Given the description of an element on the screen output the (x, y) to click on. 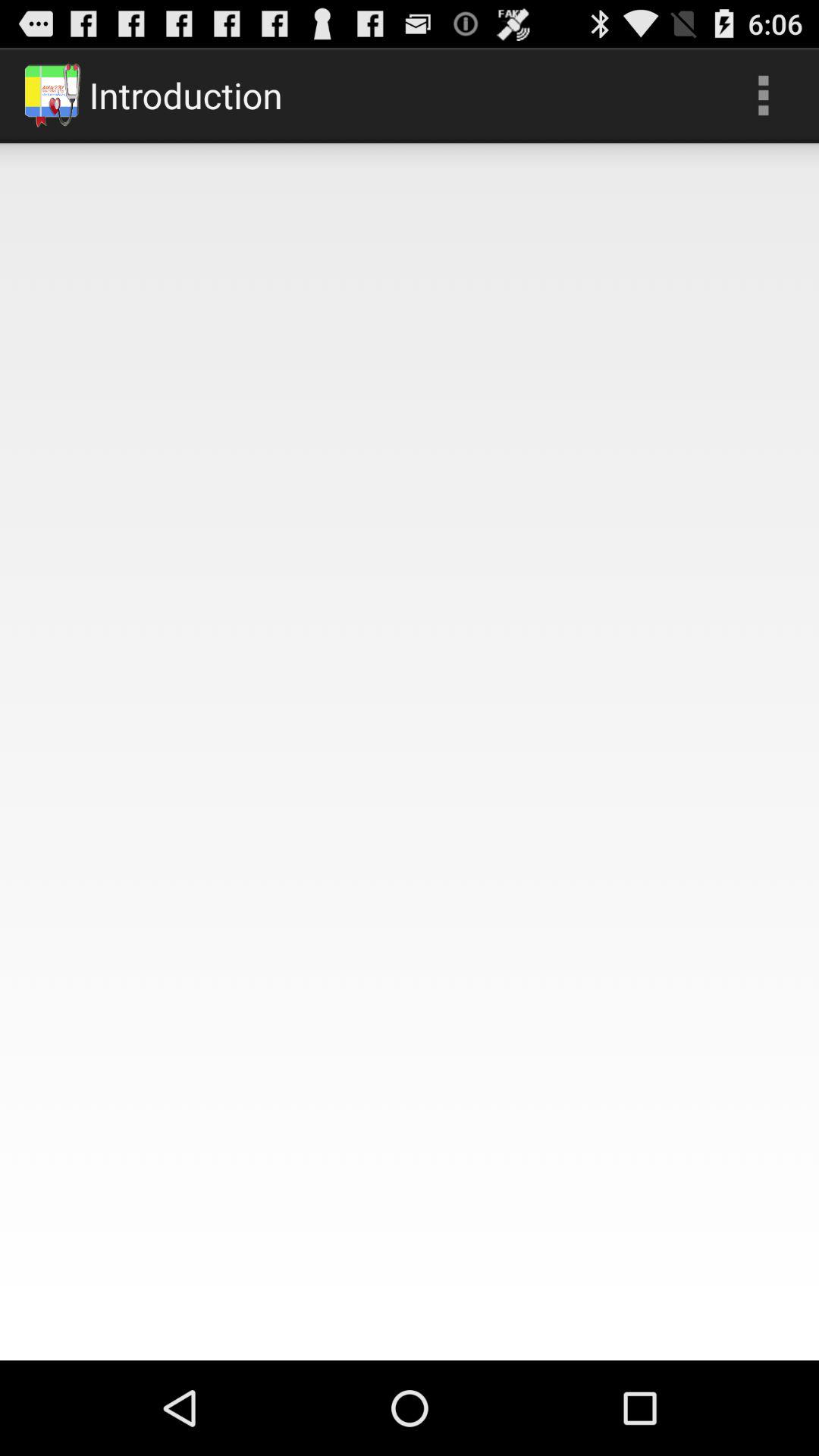
choose the item at the top right corner (763, 95)
